Given the description of an element on the screen output the (x, y) to click on. 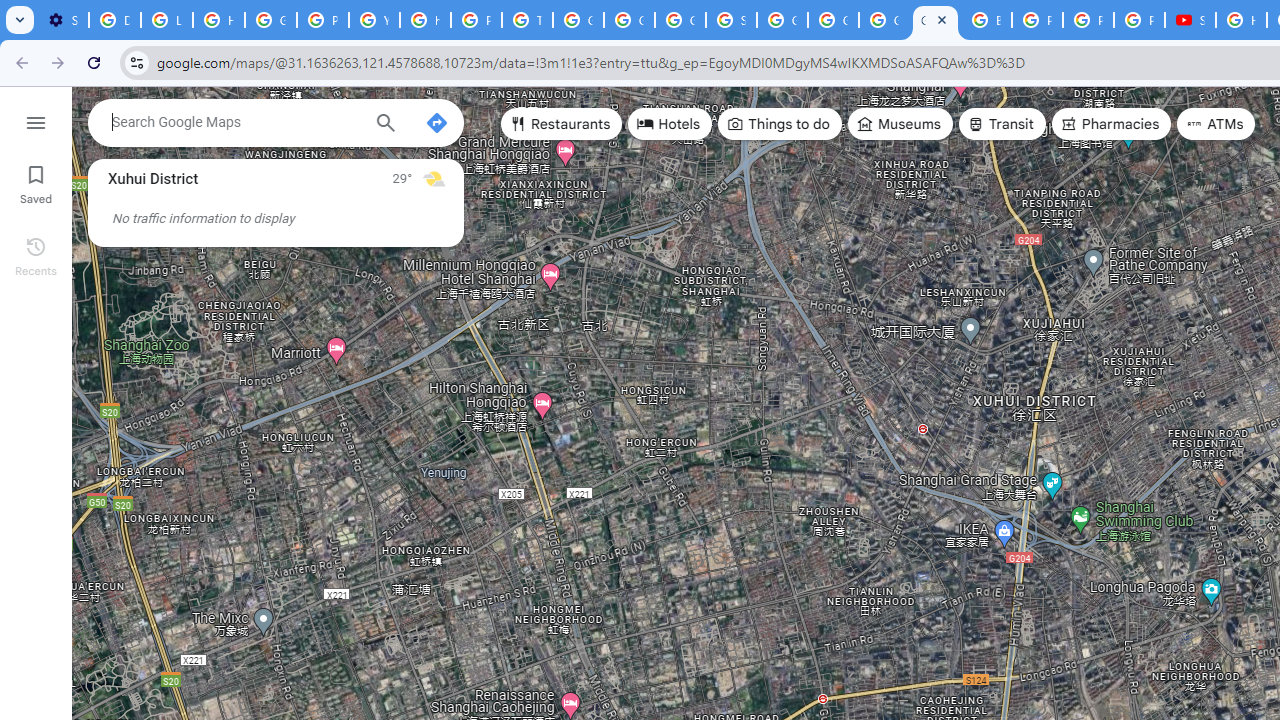
Partly cloudy (433, 178)
Museums (900, 124)
Delete photos & videos - Computer - Google Photos Help (114, 20)
Things to do (780, 124)
Directions (436, 122)
Sign in - Google Accounts (731, 20)
